Given the description of an element on the screen output the (x, y) to click on. 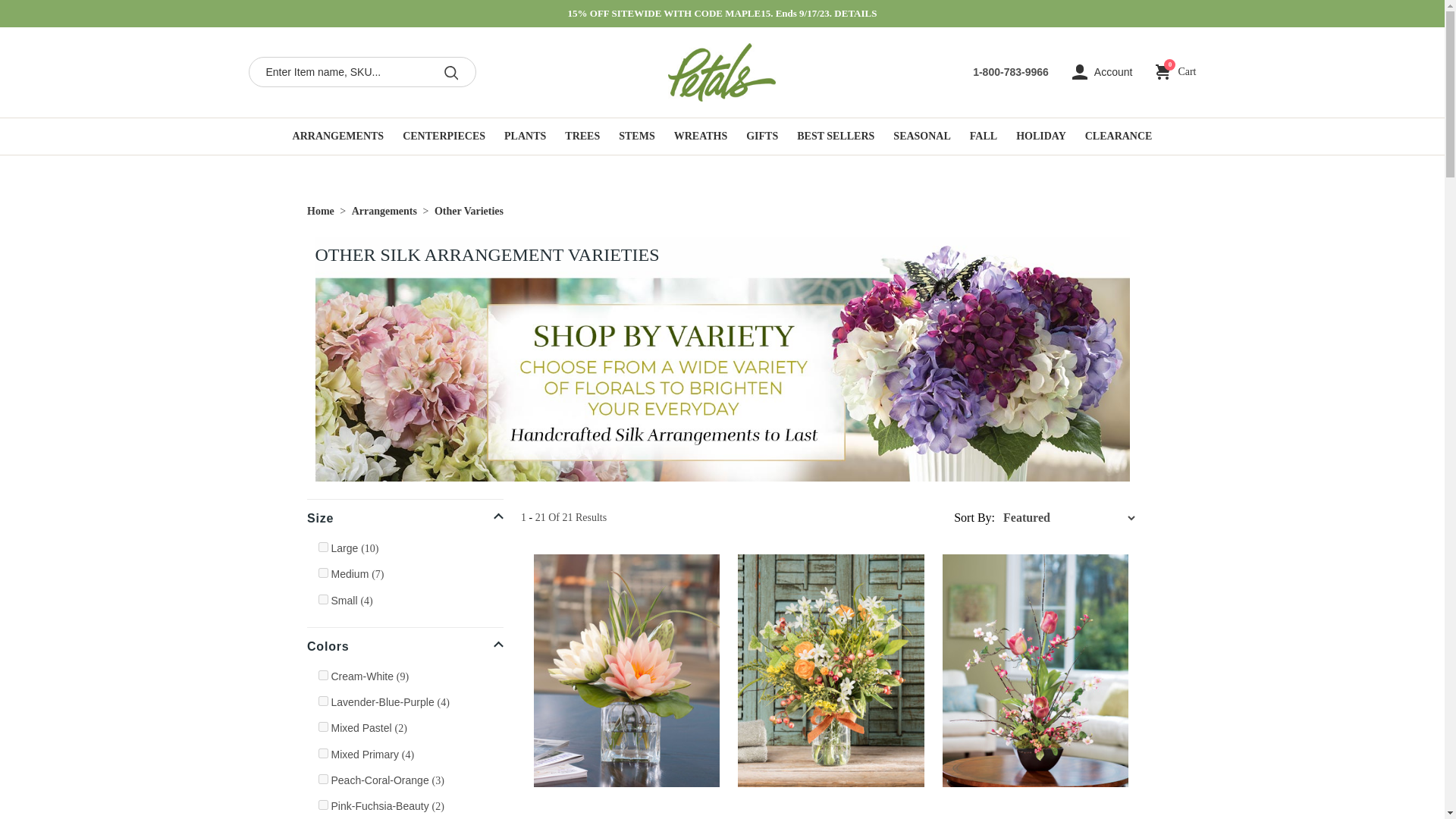
on (323, 778)
ARRANGEMENTS (338, 135)
on (323, 804)
on (323, 675)
on (323, 573)
on (323, 753)
Account (1101, 72)
on (1175, 72)
on (323, 599)
